Given the description of an element on the screen output the (x, y) to click on. 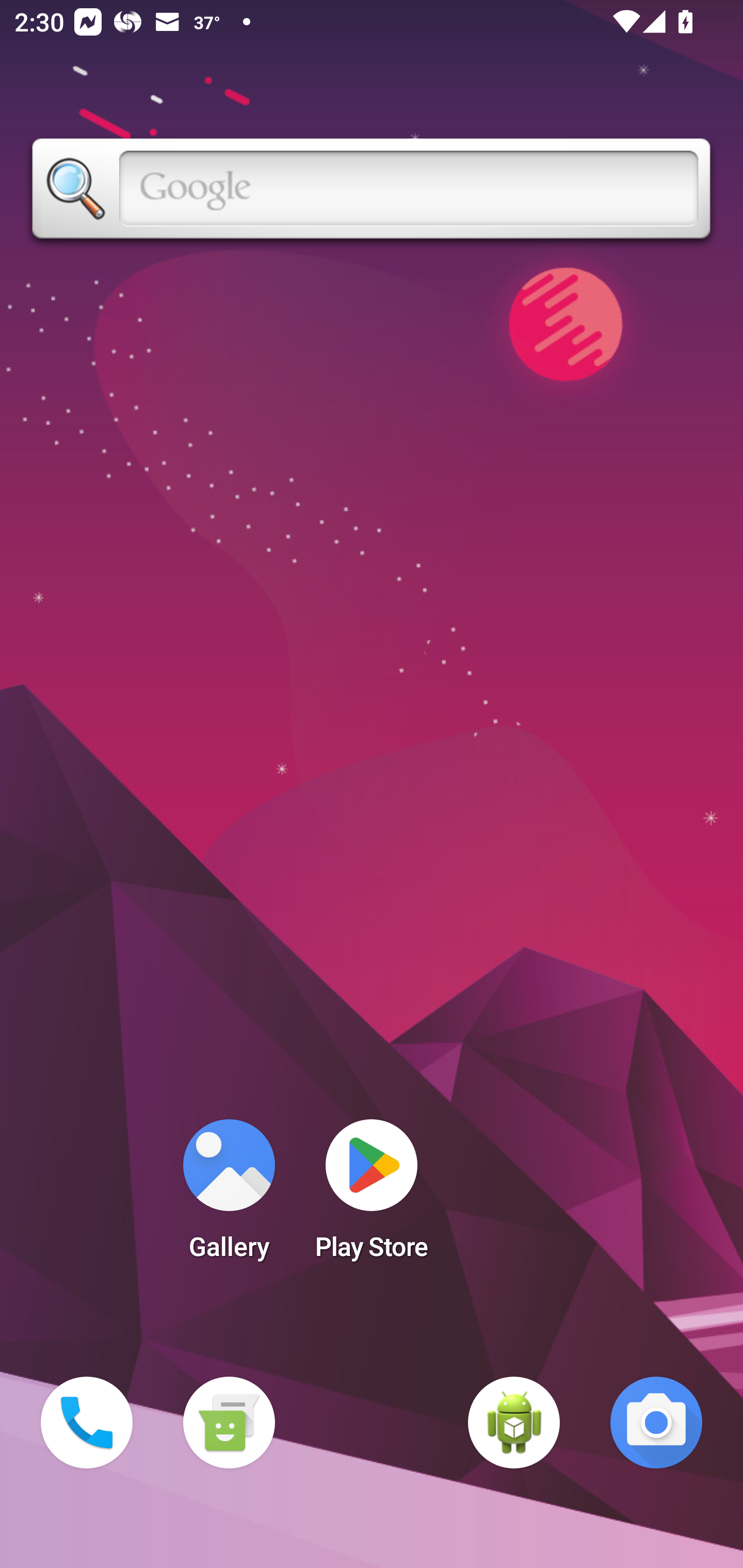
Gallery (228, 1195)
Play Store (371, 1195)
Phone (86, 1422)
Messaging (228, 1422)
WebView Browser Tester (513, 1422)
Camera (656, 1422)
